Given the description of an element on the screen output the (x, y) to click on. 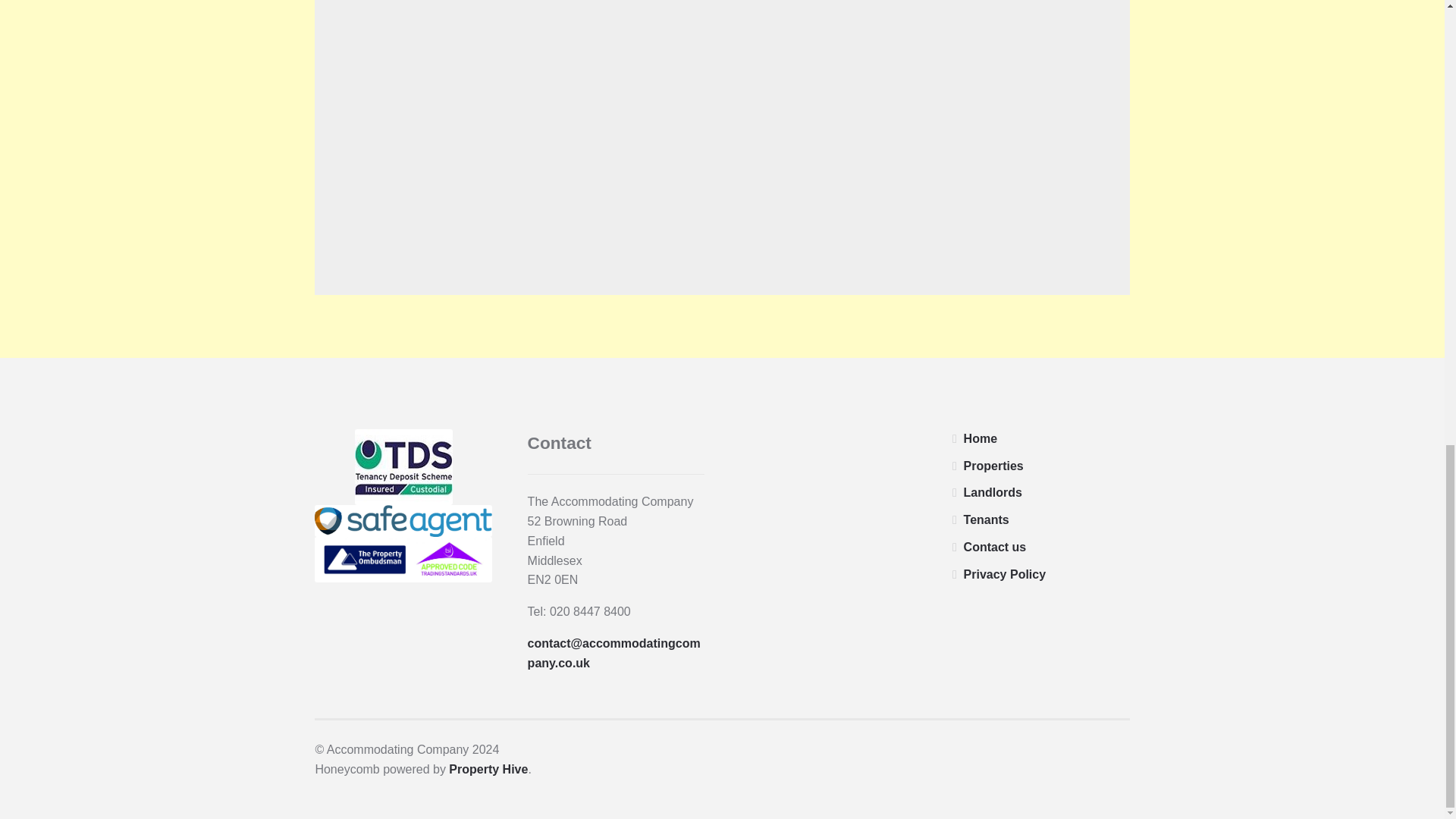
Tenants (986, 519)
Property Hive (487, 768)
Landlords (992, 492)
Home (980, 438)
Contact us (994, 546)
Privacy Policy (1004, 574)
Properties (993, 465)
